Given the description of an element on the screen output the (x, y) to click on. 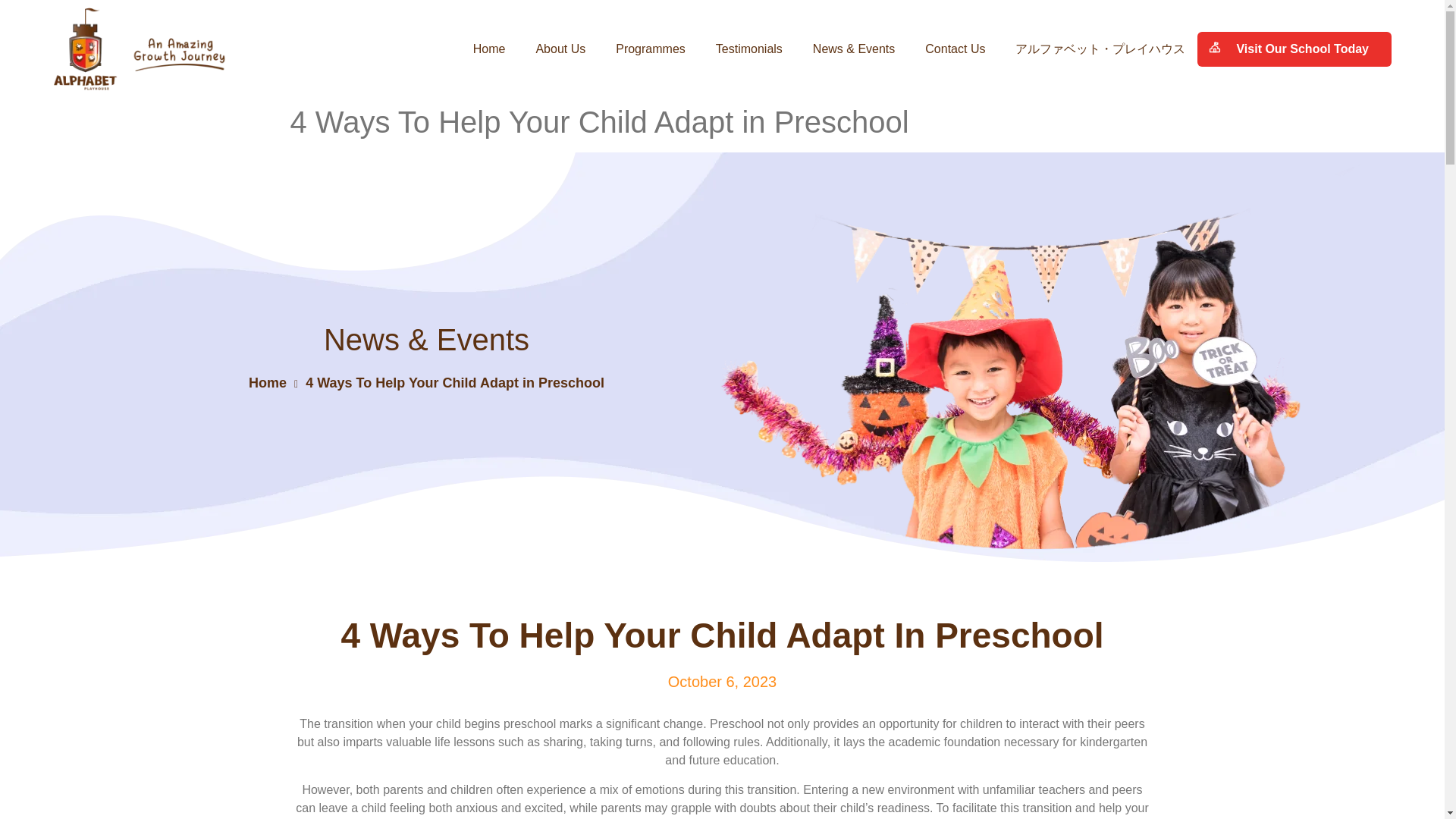
Programmes (650, 48)
Contact Us (954, 48)
Testimonials (749, 48)
About Us (560, 48)
Home (489, 48)
